Given the description of an element on the screen output the (x, y) to click on. 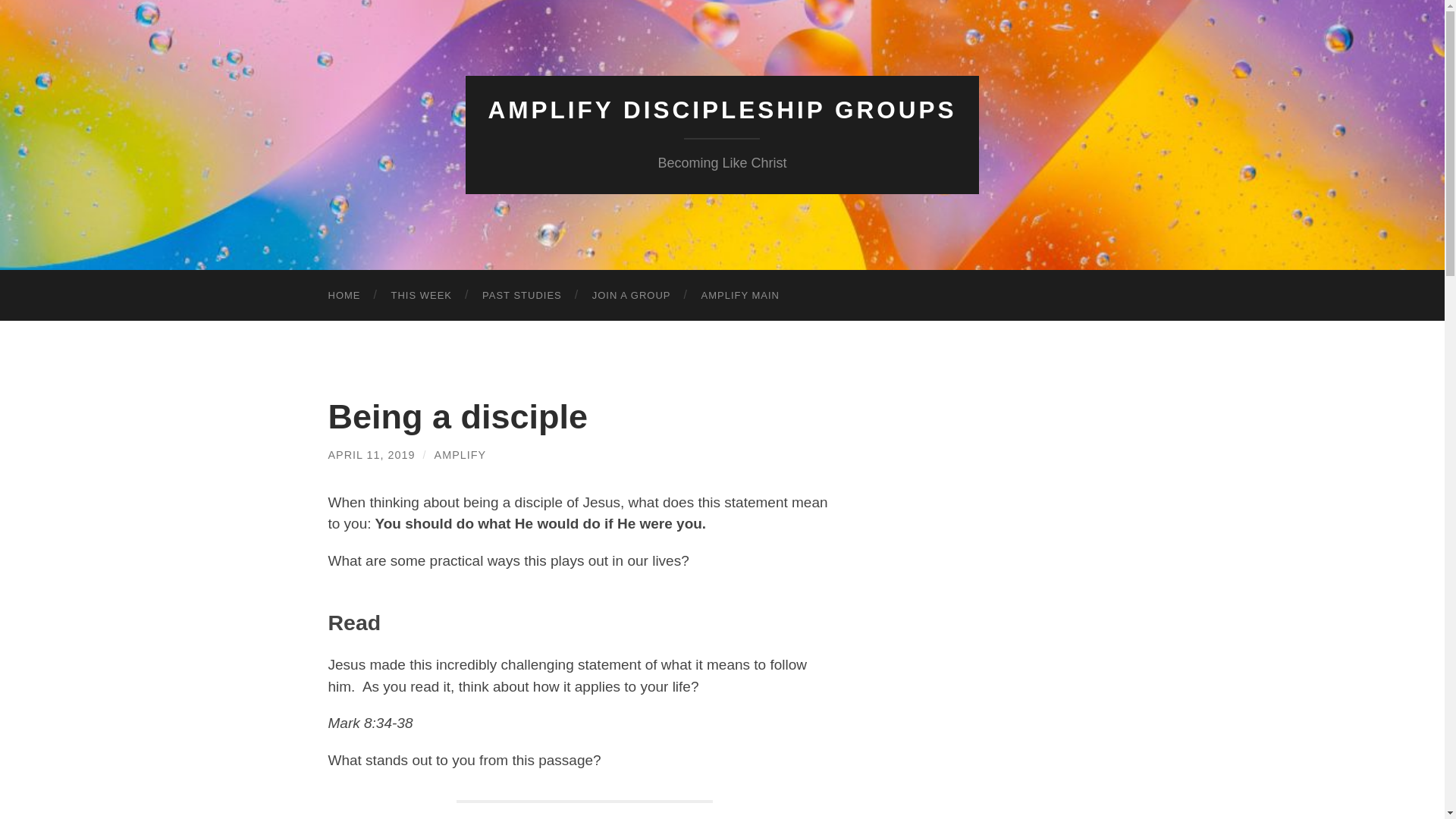
APRIL 11, 2019 (370, 454)
AMPLIFY (459, 454)
JOIN A GROUP (630, 295)
AMPLIFY DISCIPLESHIP GROUPS (721, 109)
PAST STUDIES (521, 295)
AMPLIFY MAIN (739, 295)
THIS WEEK (421, 295)
HOME (344, 295)
Posts by amplify (459, 454)
